Given the description of an element on the screen output the (x, y) to click on. 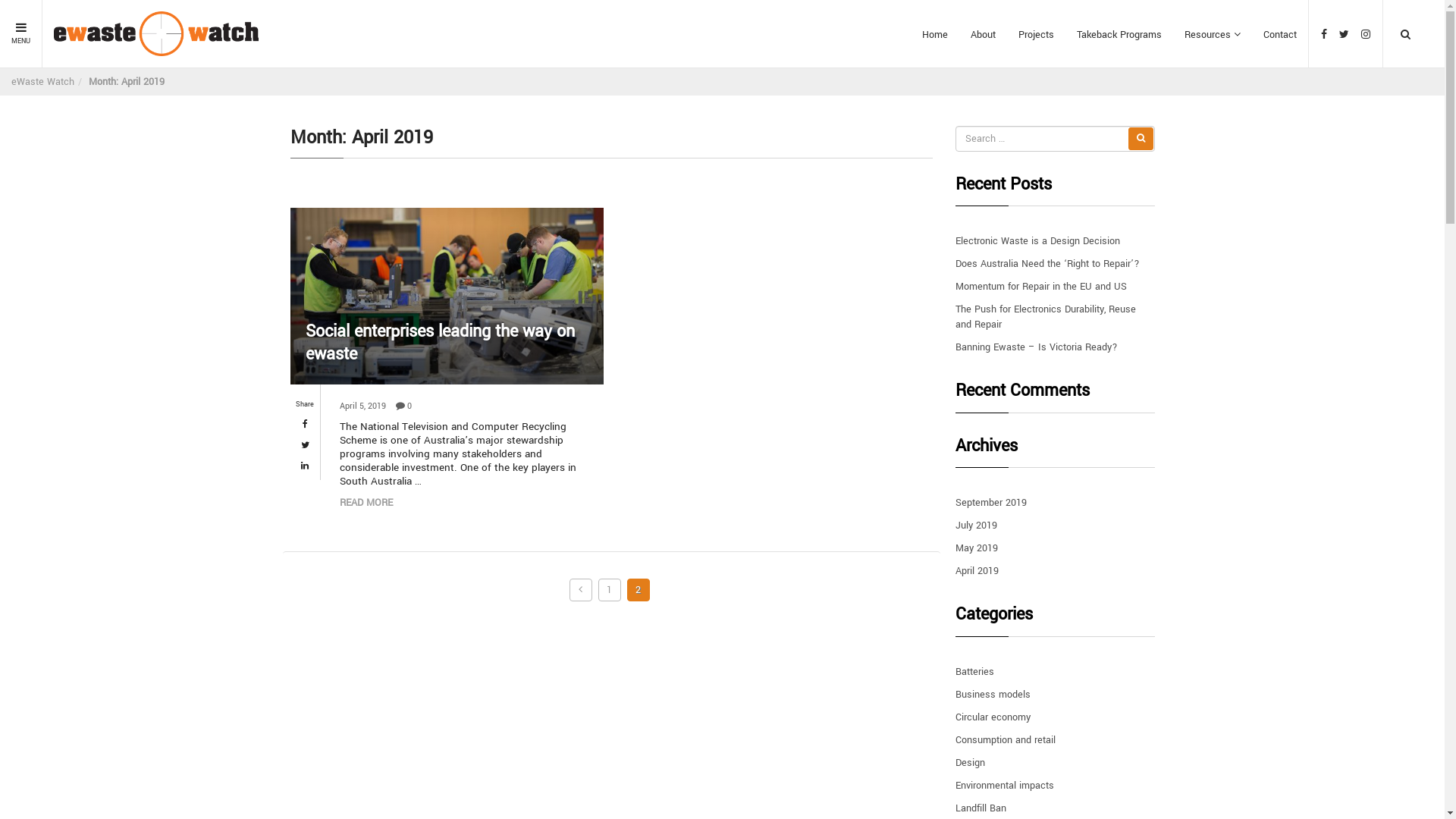
Circular economy Element type: text (992, 717)
Social enterprises leading the way on ewaste Element type: text (446, 342)
Environmental impacts Element type: text (1004, 785)
July 2019 Element type: text (976, 525)
Skip to content Element type: text (0, 0)
The Push for Electronics Durability, Reuse and Repair Element type: text (1045, 316)
Batteries Element type: text (974, 671)
1 Element type: text (609, 589)
Electronic Waste is a Design Decision Element type: text (1037, 240)
May 2019 Element type: text (976, 548)
Design Element type: text (970, 762)
Home Element type: text (934, 34)
Resources Element type: text (1212, 34)
Projects Element type: text (1036, 34)
Takeback Programs Element type: text (1119, 34)
Search Element type: text (1140, 138)
eWaste Watch Element type: text (42, 81)
Search Element type: text (1399, 70)
About Element type: text (983, 34)
Landfill Ban Element type: text (980, 808)
September 2019 Element type: text (990, 502)
MENU Element type: text (21, 34)
Business models Element type: text (992, 694)
Contact Element type: text (1280, 34)
Momentum for Repair in the EU and US Element type: text (1040, 286)
April 2019 Element type: text (976, 570)
Consumption and retail Element type: text (1005, 739)
